Given the description of an element on the screen output the (x, y) to click on. 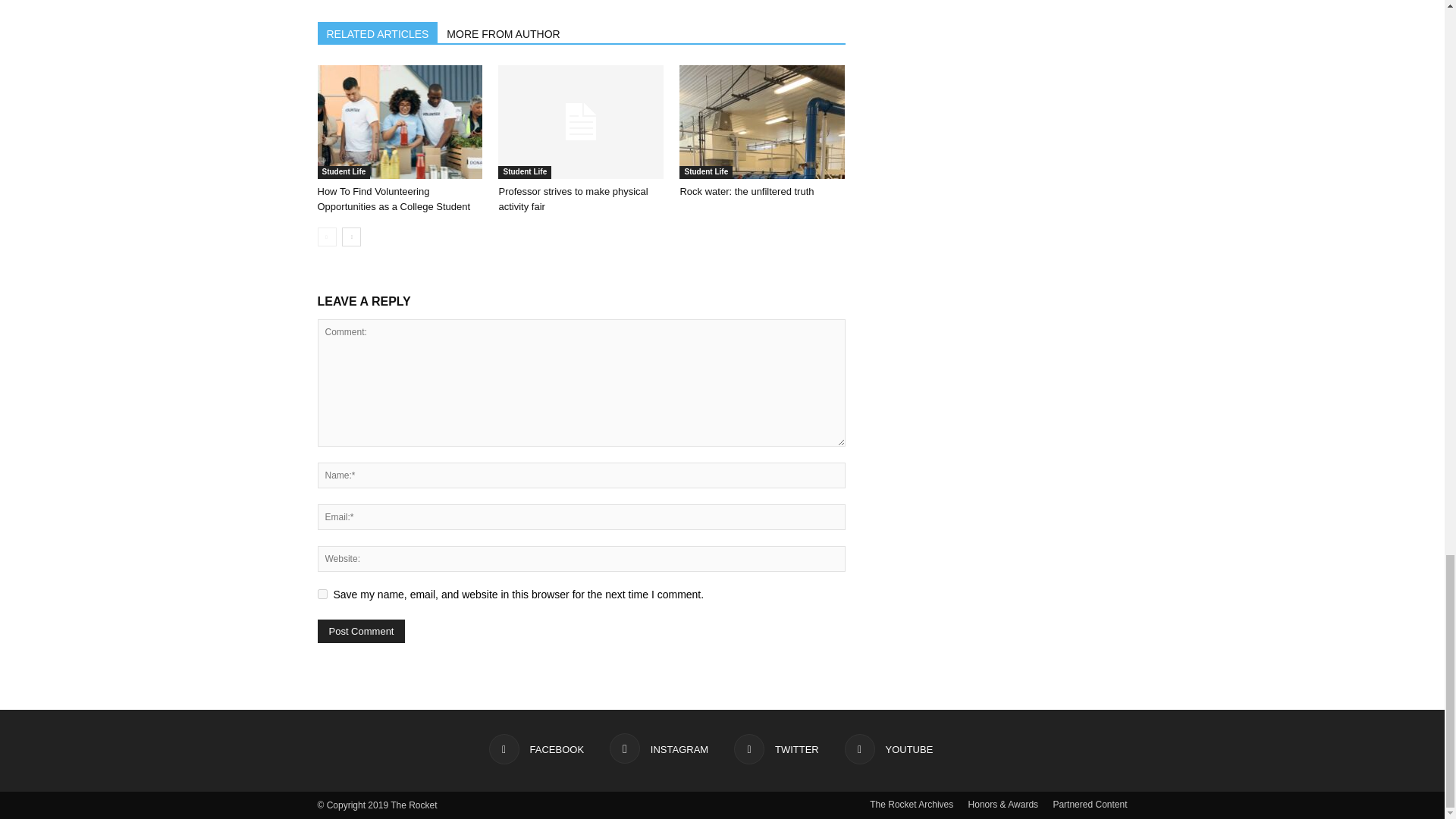
Professor strives to make physical activity fair (572, 198)
Rock water: the unfiltered truth (761, 122)
How To Find Volunteering Opportunities as a College Student (399, 122)
How To Find Volunteering Opportunities as a College Student (393, 198)
yes (321, 593)
Professor strives to make physical activity fair (580, 122)
Post Comment (360, 630)
